Given the description of an element on the screen output the (x, y) to click on. 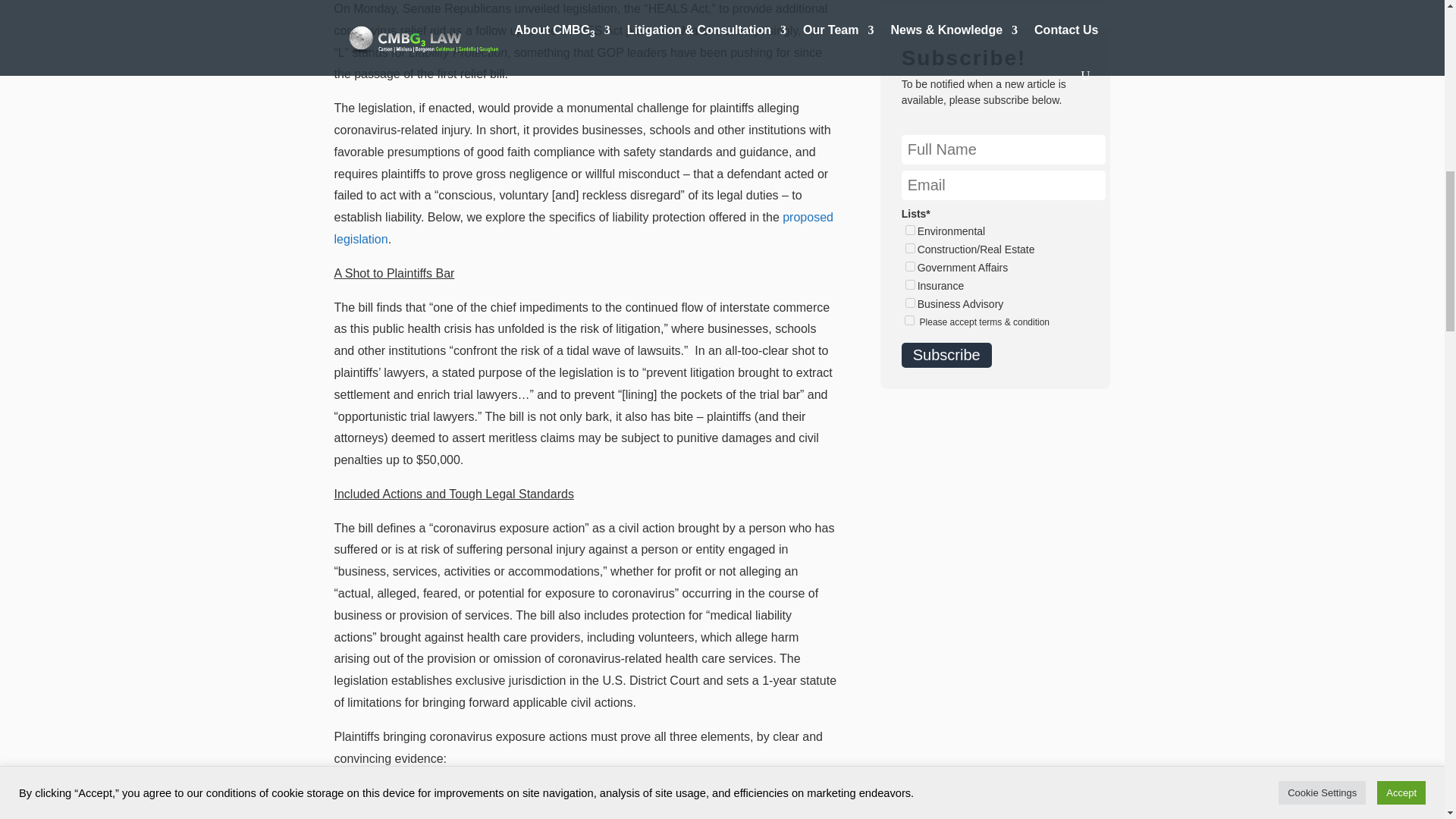
4d7f03df59a0 (910, 230)
84cc330e6843 (910, 284)
f66ee204f9b0 (910, 266)
true (909, 320)
Subscribe (946, 355)
1e7d05b0ccda (910, 302)
e041db27f3f8 (910, 248)
